Given the description of an element on the screen output the (x, y) to click on. 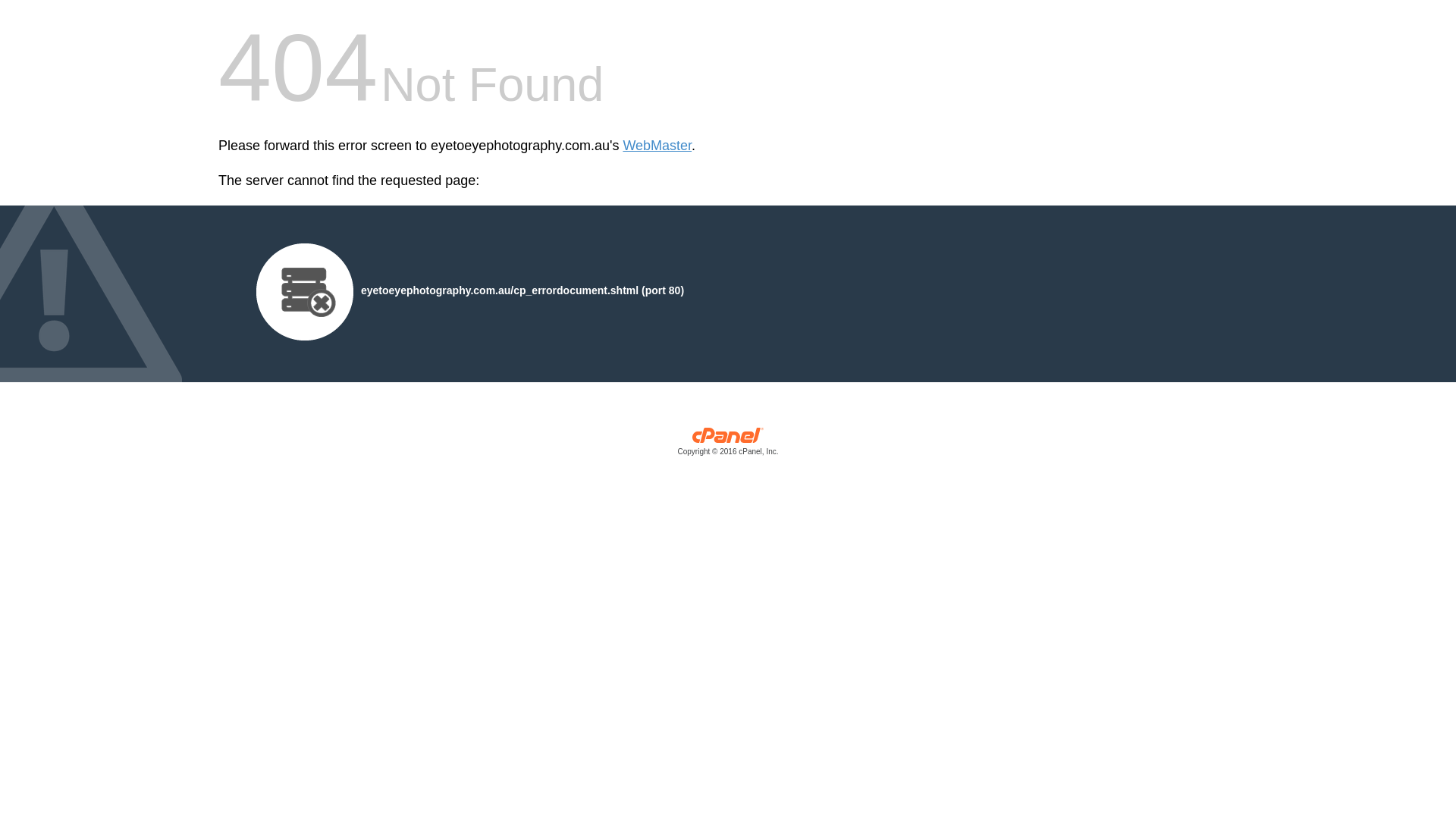
WebMaster Element type: text (656, 145)
